Given the description of an element on the screen output the (x, y) to click on. 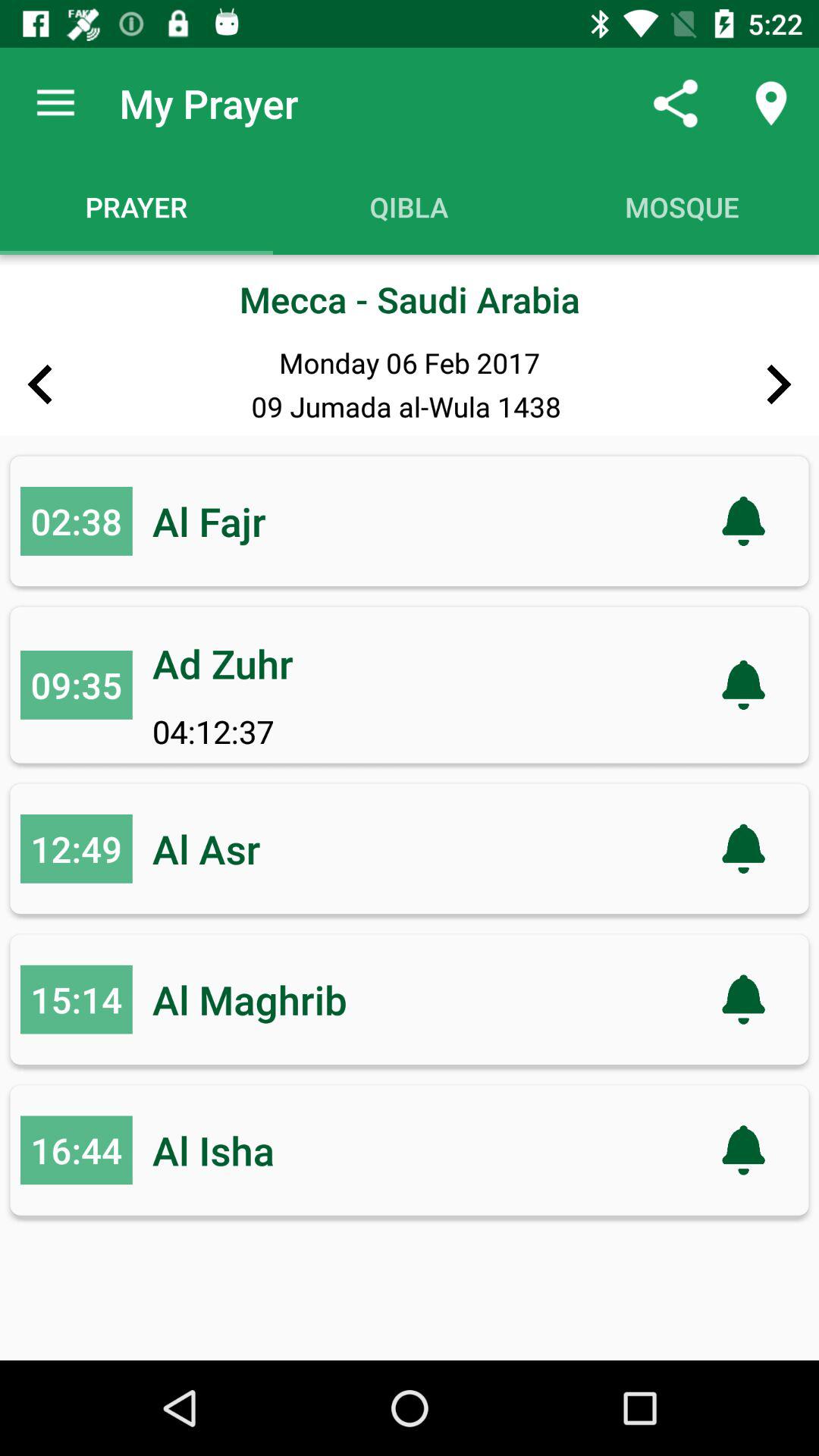
choose icon next to my prayer icon (55, 103)
